Given the description of an element on the screen output the (x, y) to click on. 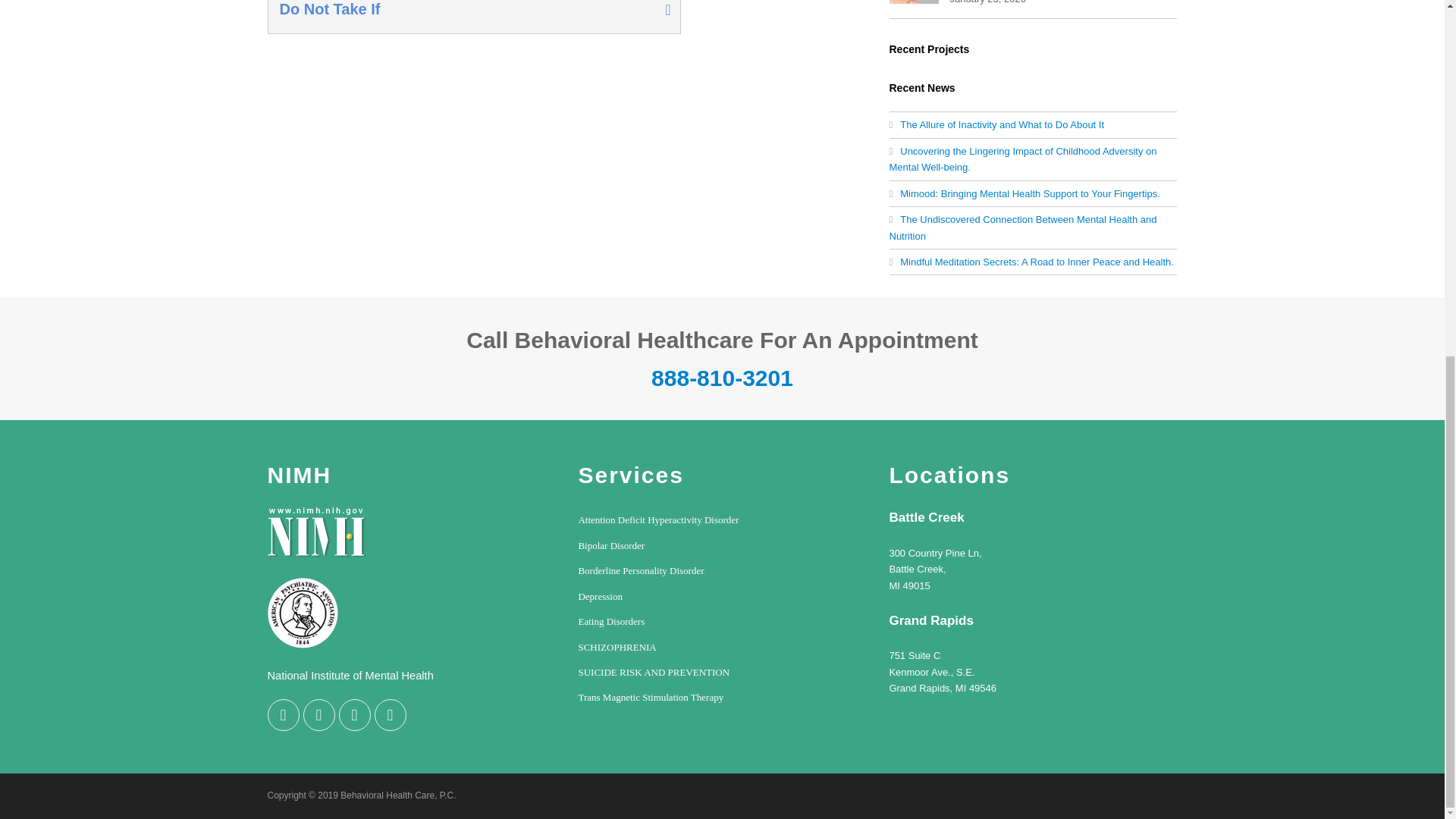
Facebook (318, 715)
The Allure of Inactivity and What to Do About It (995, 124)
Twitter (282, 715)
